Given the description of an element on the screen output the (x, y) to click on. 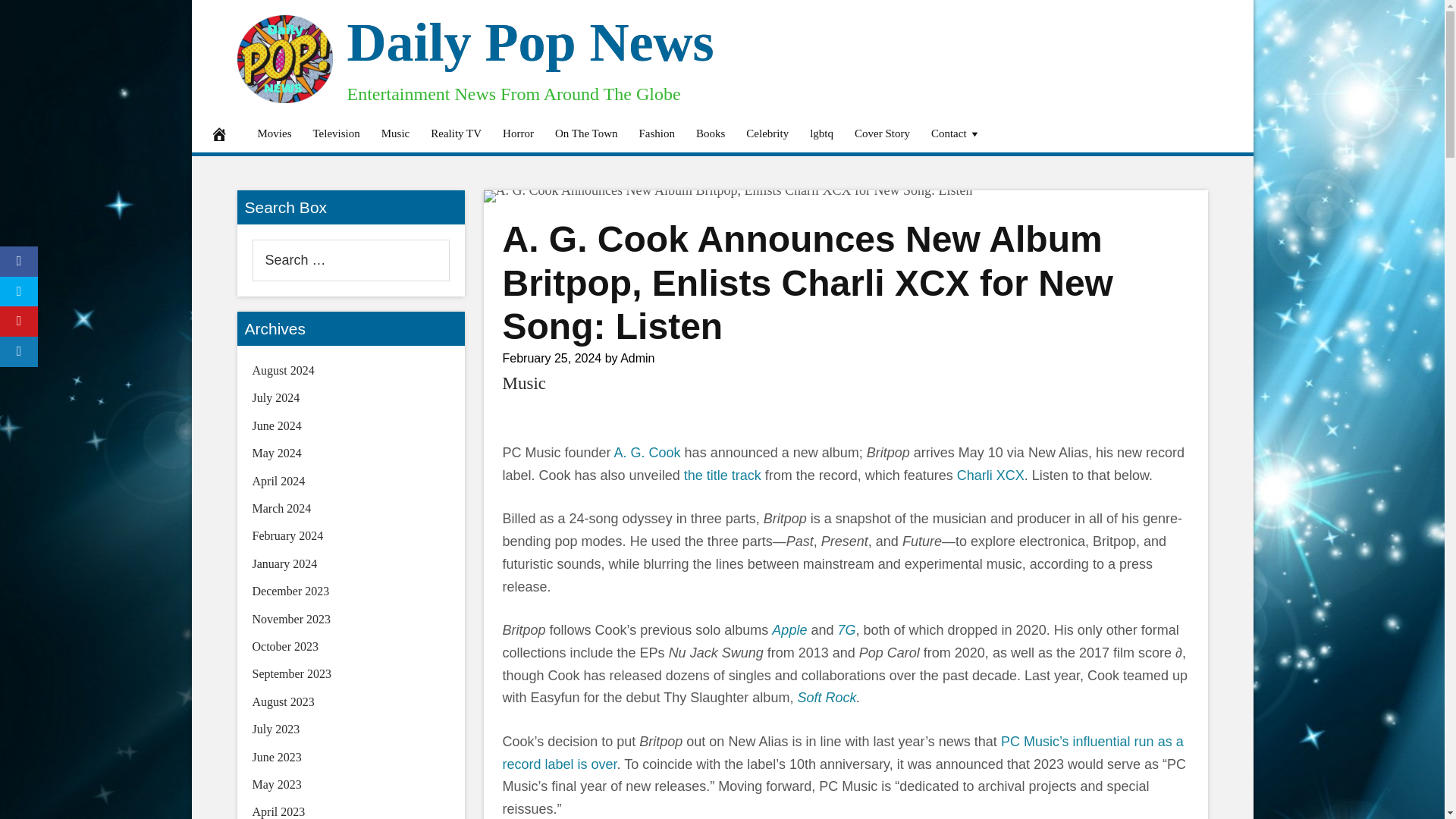
Daily Pop News (530, 42)
Books (710, 133)
Cover Story (882, 133)
On The Town (586, 133)
Television (335, 133)
lgbtq (821, 133)
Horror (518, 133)
